Given the description of an element on the screen output the (x, y) to click on. 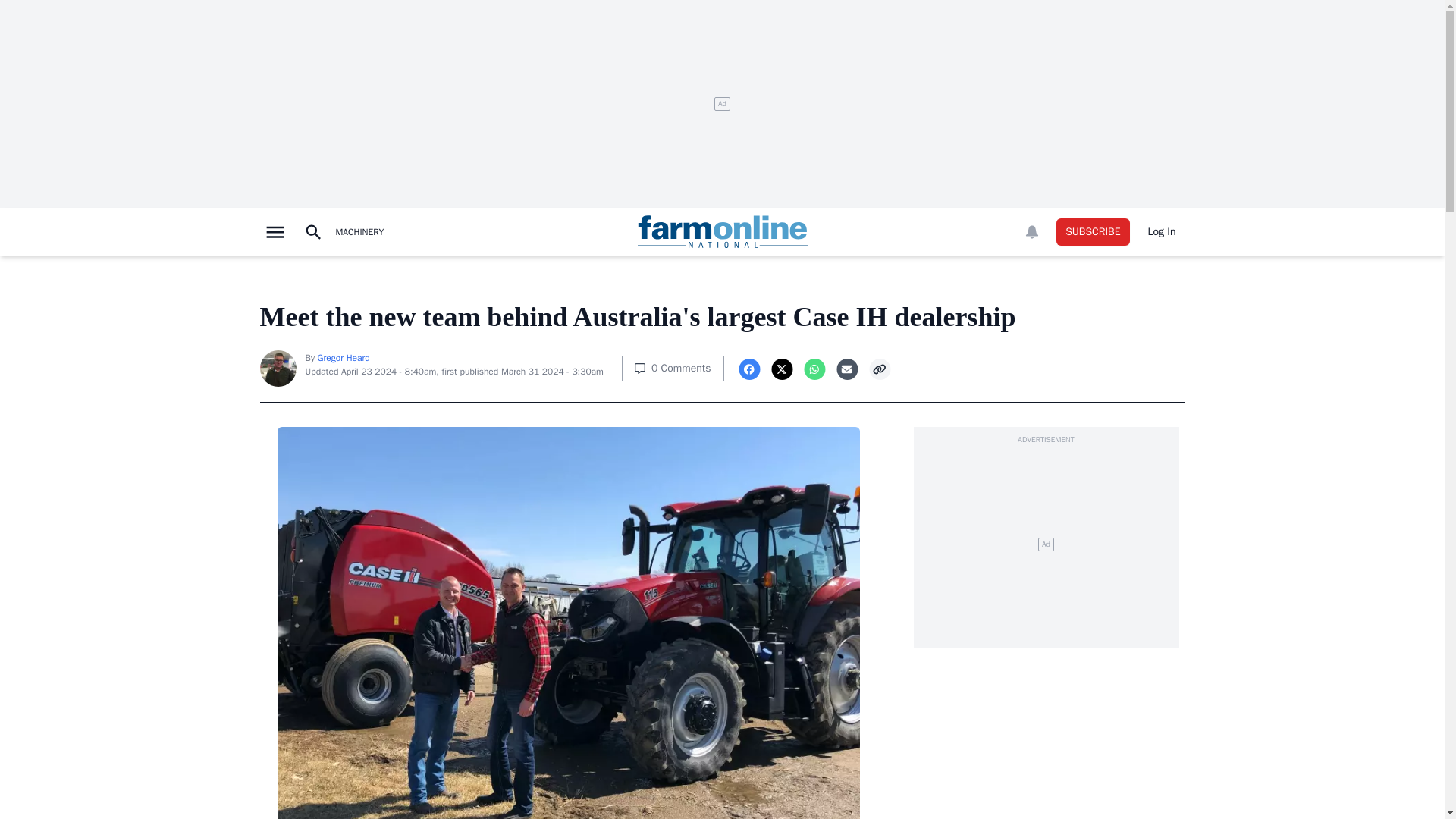
MACHINERY (359, 232)
SUBSCRIBE (1093, 231)
Log In (1161, 231)
